Given the description of an element on the screen output the (x, y) to click on. 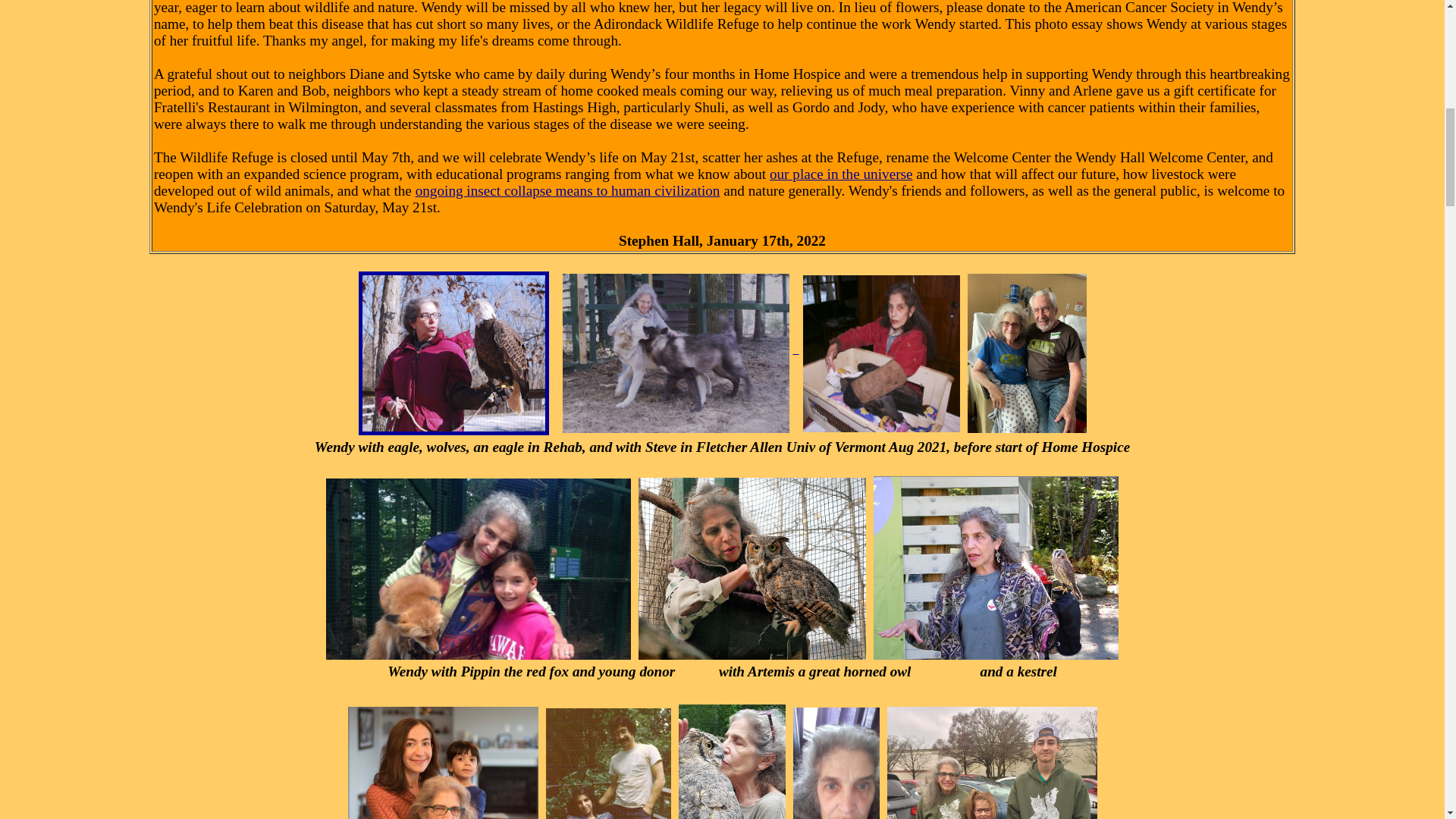
ongoing insect collapse means to human civilization (567, 190)
our place in the universe (841, 173)
